Given the description of an element on the screen output the (x, y) to click on. 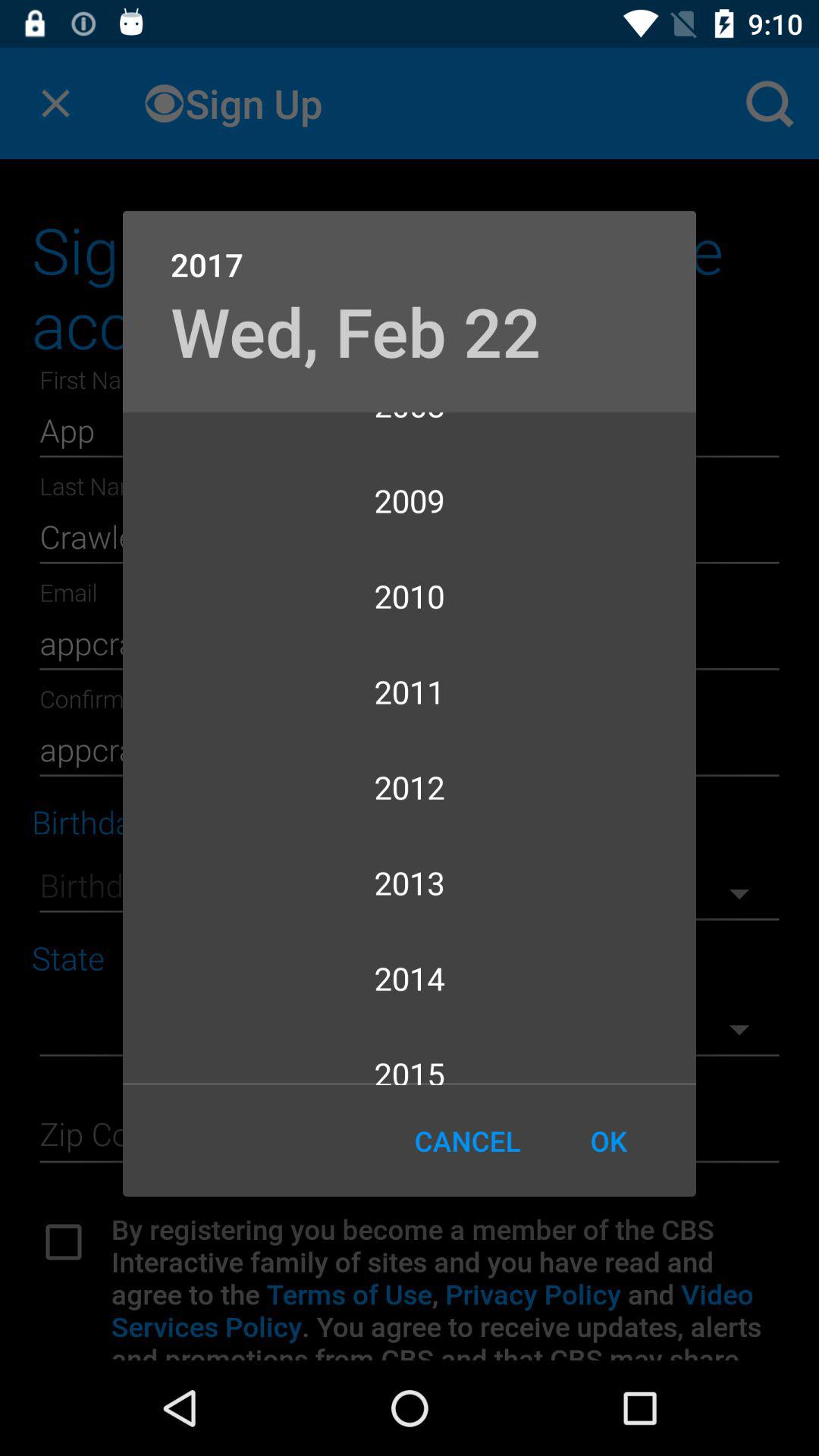
open the 2017 (409, 248)
